Given the description of an element on the screen output the (x, y) to click on. 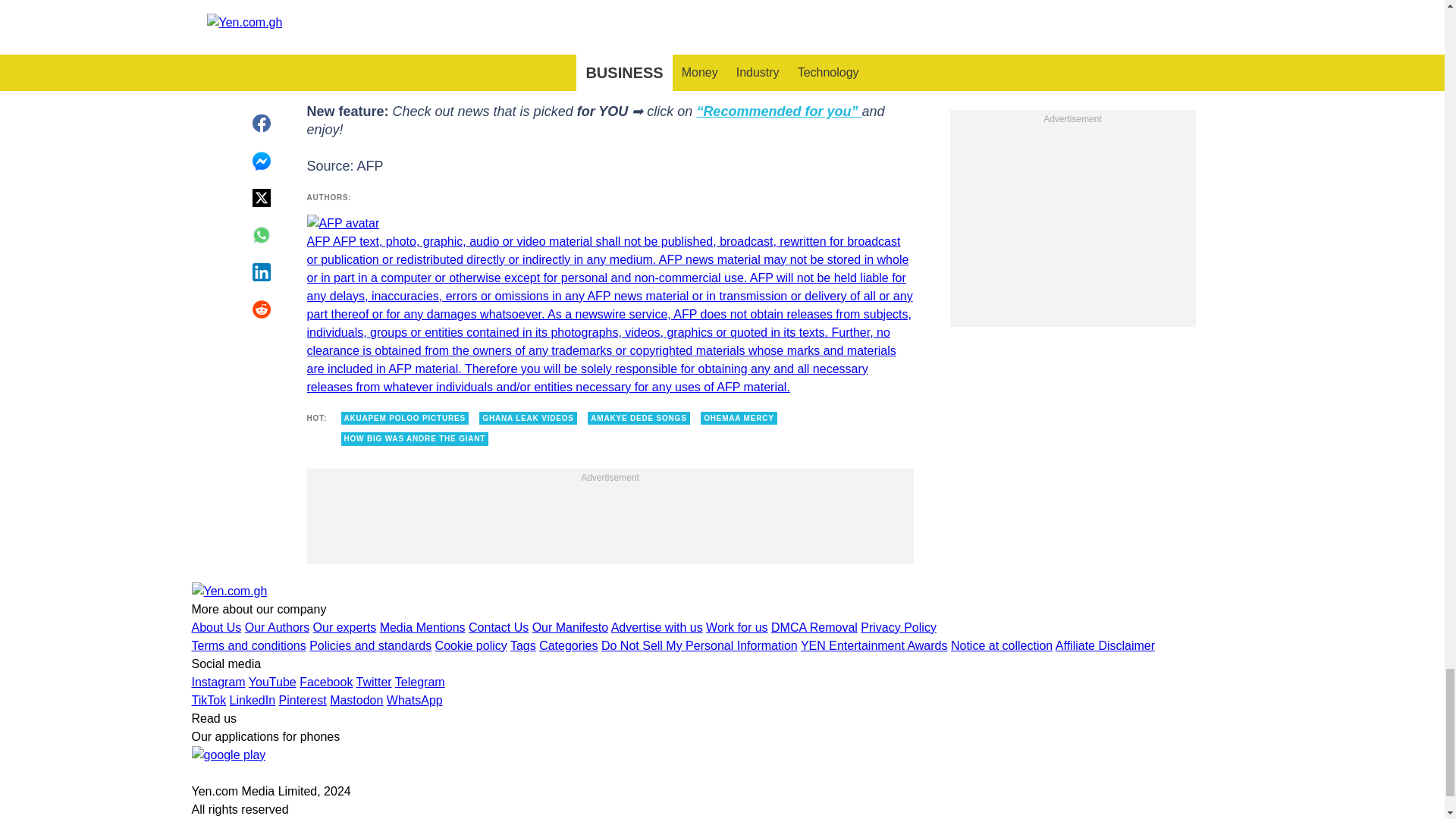
Author page (608, 305)
